Given the description of an element on the screen output the (x, y) to click on. 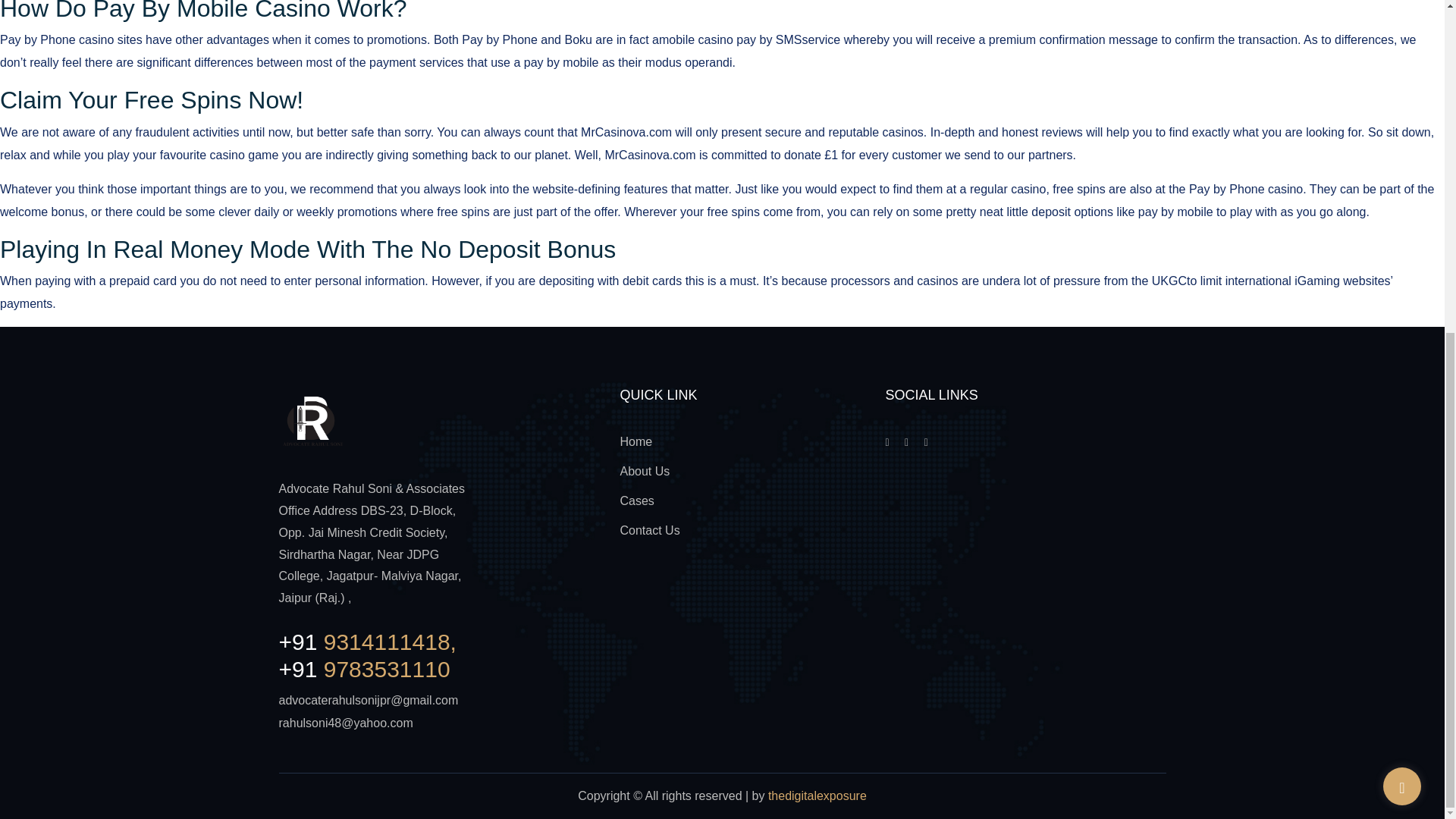
Go to Top (1401, 232)
thedigitalexposure (817, 795)
Contact Us (649, 530)
Home (636, 440)
Cases (636, 500)
About Us (644, 471)
